Given the description of an element on the screen output the (x, y) to click on. 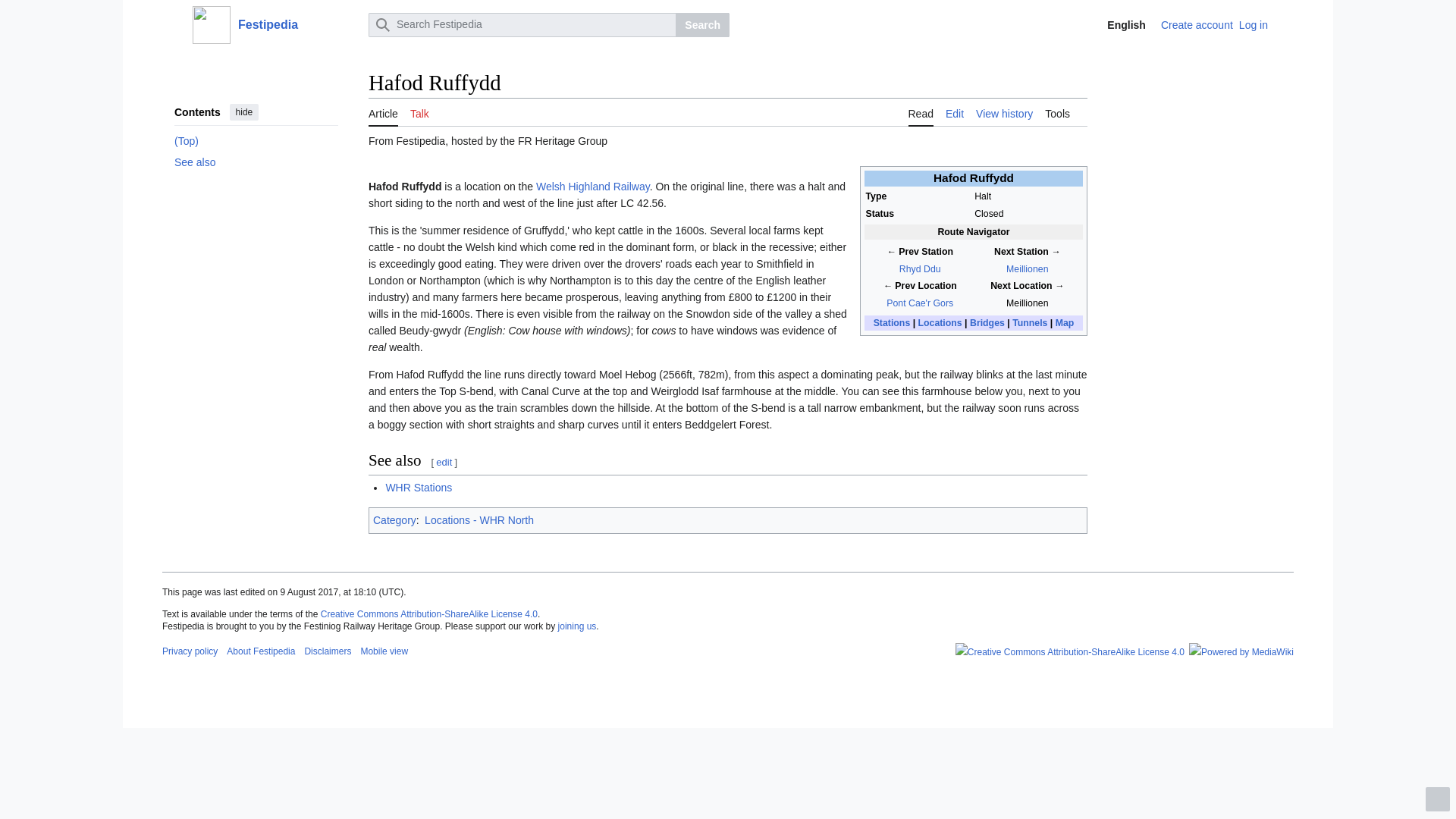
Festipedia (276, 24)
Read (920, 112)
Article (382, 112)
hide (244, 112)
See also (255, 161)
View history (1003, 112)
Log in (1253, 24)
Create account (1196, 24)
Search (702, 24)
